Given the description of an element on the screen output the (x, y) to click on. 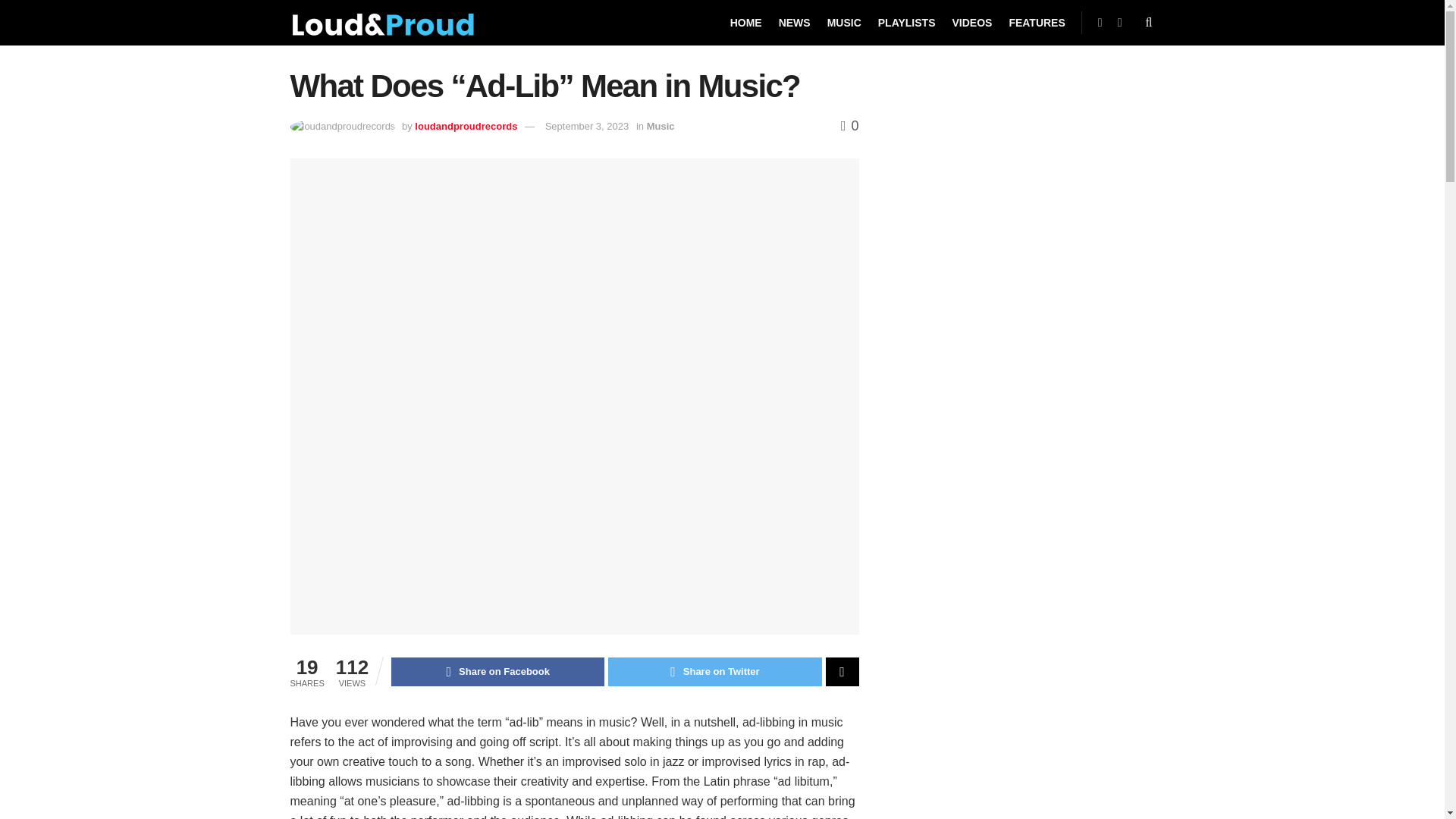
Share on Facebook (497, 671)
0 (850, 125)
September 3, 2023 (586, 125)
loudandproudrecords (465, 125)
PLAYLISTS (906, 22)
Music (660, 125)
Share on Twitter (714, 671)
FEATURES (1036, 22)
